Given the description of an element on the screen output the (x, y) to click on. 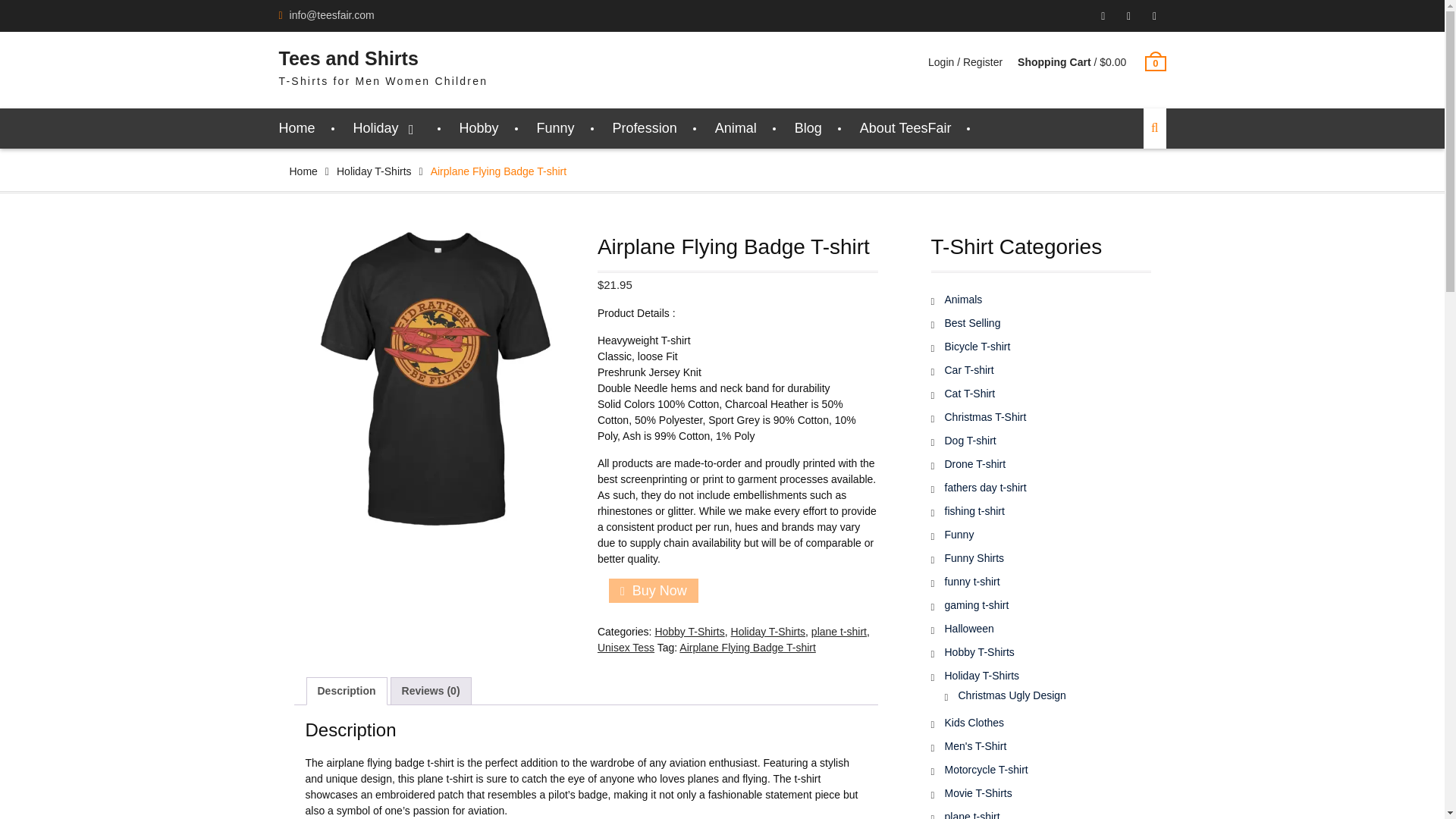
Holiday (387, 128)
Hobby (479, 128)
Twitter (1154, 15)
plane t-shirt (838, 631)
Google Plus (1103, 15)
Animal (735, 128)
Facebook (1129, 15)
Airplane Flying Badge T-shirt (747, 647)
Tees and Shirts (349, 57)
Home (297, 128)
Holiday T-Shirts (768, 631)
Holiday T-Shirts (374, 171)
Unisex Tess (624, 647)
About TeesFair (906, 128)
Airplane Flying Badge T-shirt (434, 378)
